Given the description of an element on the screen output the (x, y) to click on. 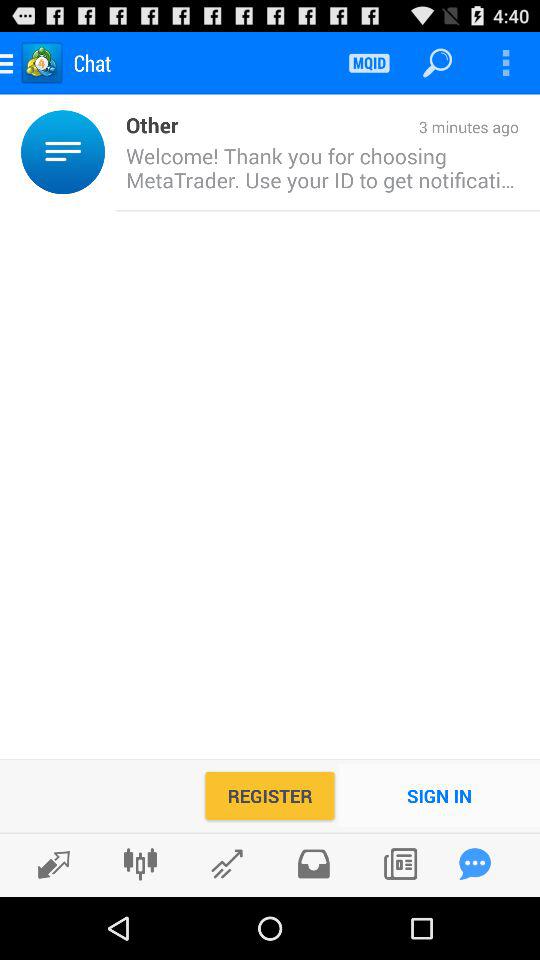
flip to welcome thank you (317, 167)
